Given the description of an element on the screen output the (x, y) to click on. 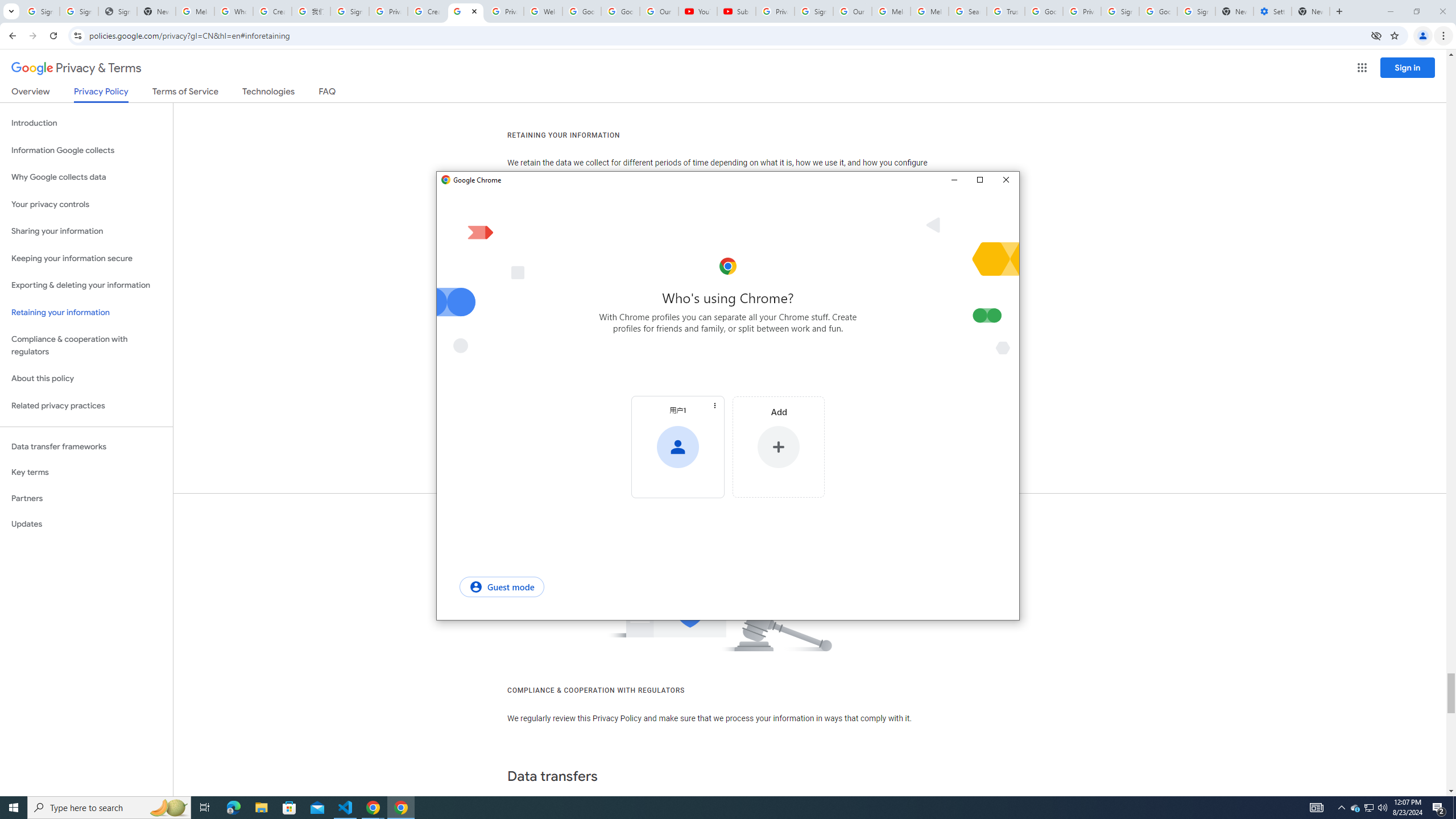
Visual Studio Code - 1 running window (345, 807)
Your privacy controls (86, 204)
Search our Doodle Library Collection - Google Doodles (967, 11)
Google Chrome - 2 running windows (373, 807)
Show desktop (1454, 807)
